Given the description of an element on the screen output the (x, y) to click on. 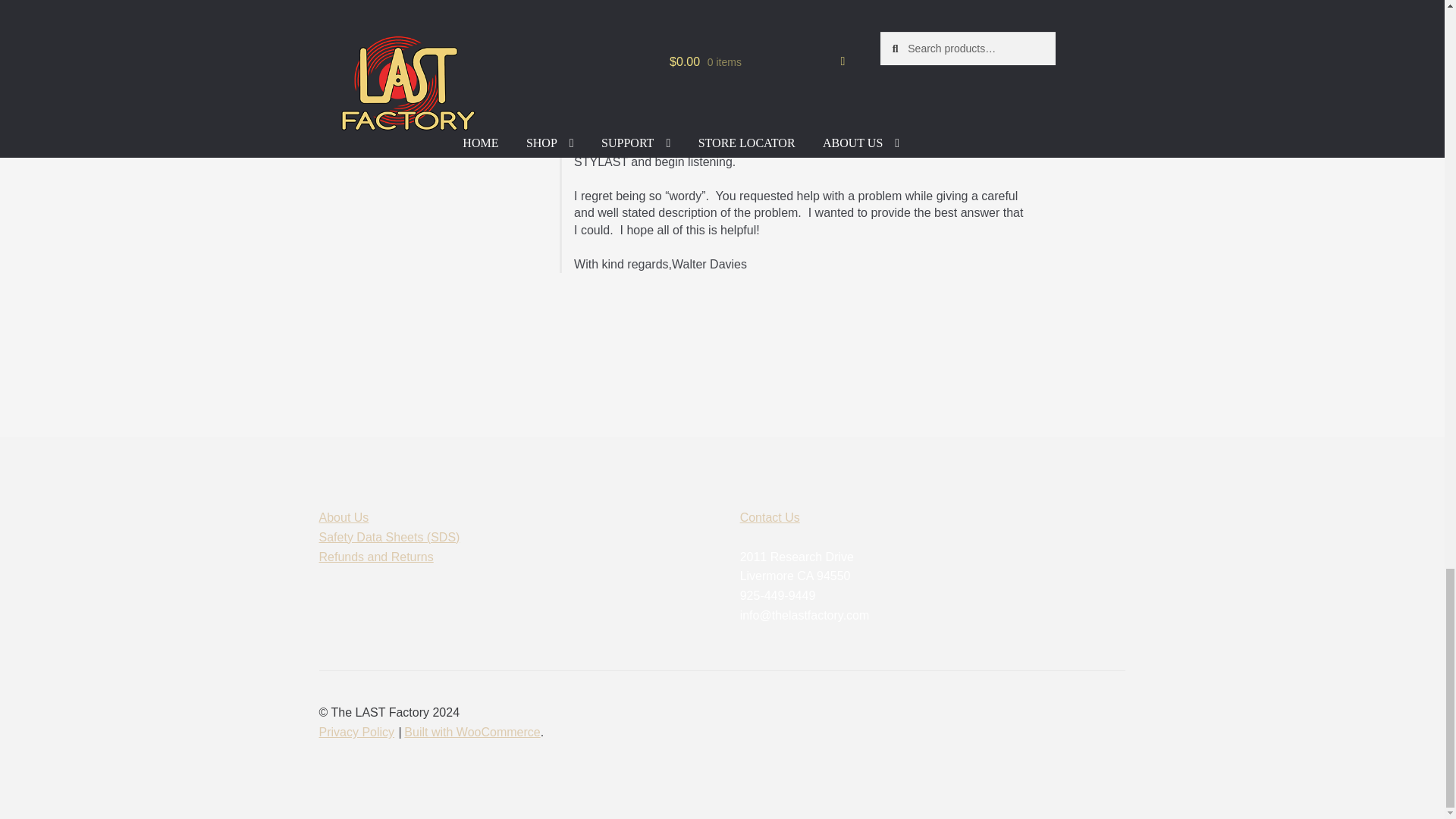
WooCommerce - The Best eCommerce Platform for WordPress (472, 731)
